Given the description of an element on the screen output the (x, y) to click on. 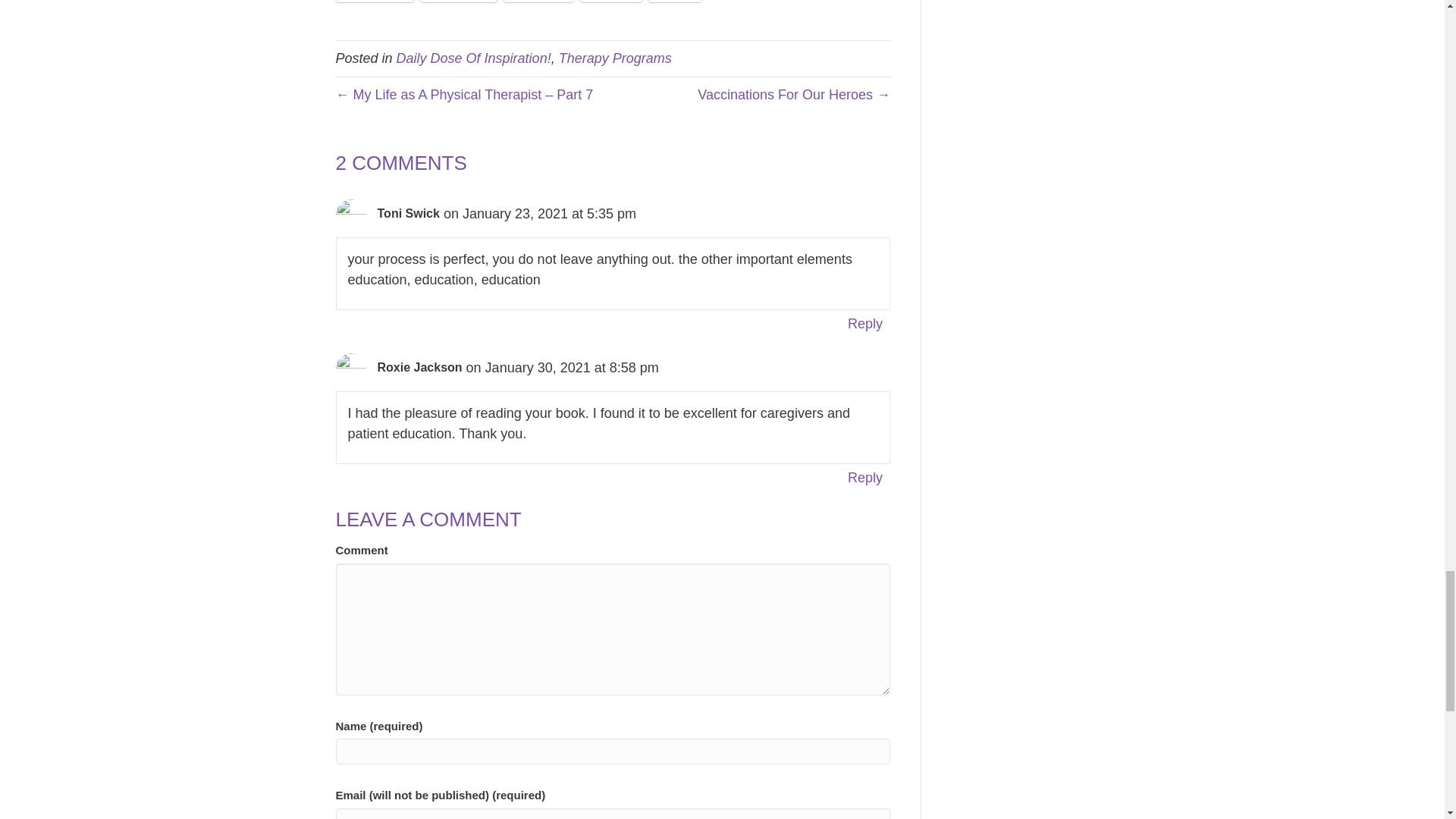
Click to print (674, 1)
Daily Dose Of Inspiration! (473, 58)
LinkedIn (538, 1)
Click to share on Facebook (458, 1)
Therapy Programs (615, 58)
Reply (865, 477)
WhatsApp (373, 1)
Twitter (610, 1)
Print (674, 1)
Click to share on Twitter (610, 1)
Click to share on LinkedIn (538, 1)
Reply (865, 323)
Facebook (458, 1)
Click to share on WhatsApp (373, 1)
